Given the description of an element on the screen output the (x, y) to click on. 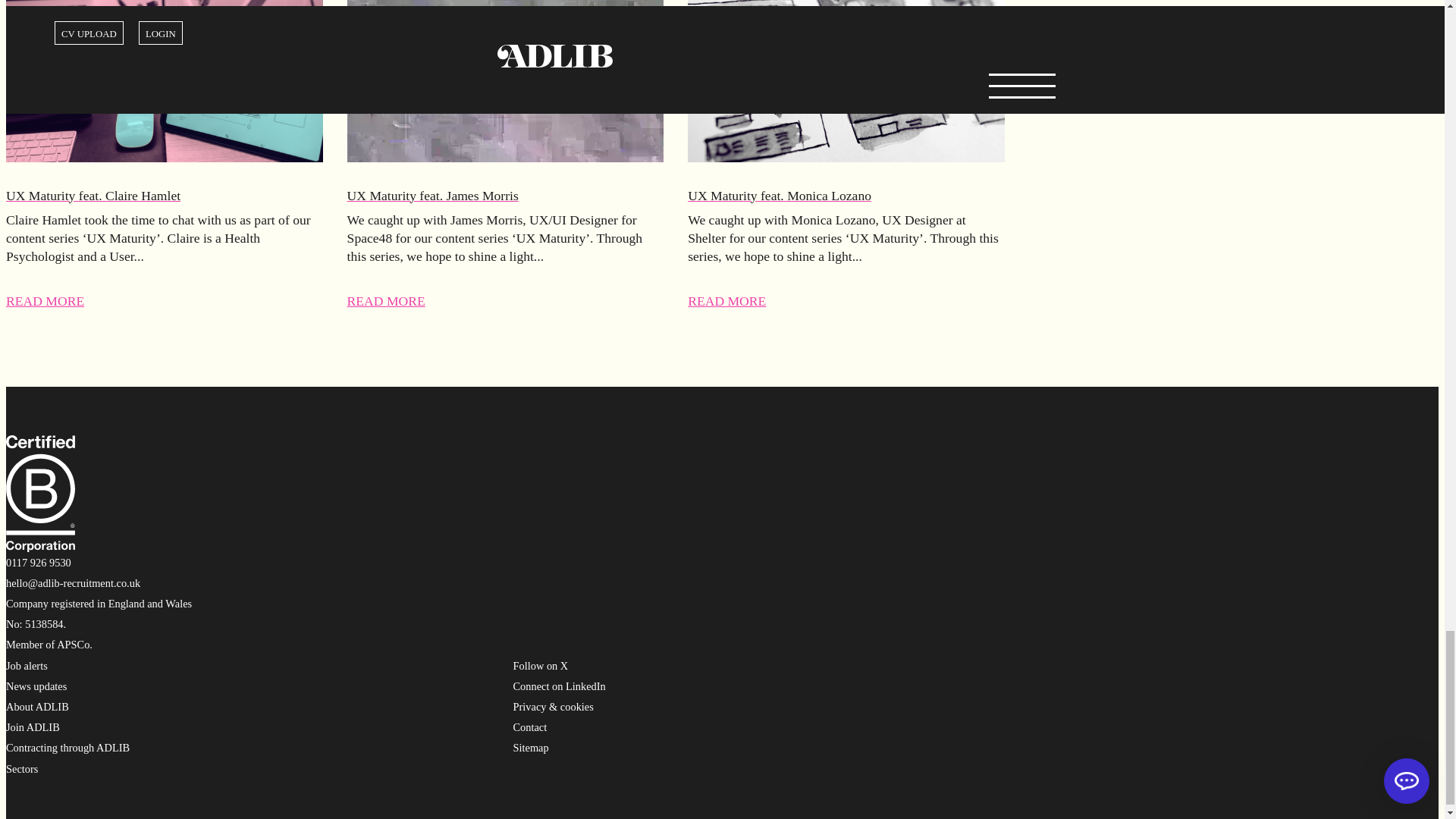
UX Maturity feat. James Morris (505, 195)
Contracting through ADLIB (67, 747)
0117 926 9530 (38, 562)
Job alerts (26, 665)
News updates (35, 686)
READ MORE (44, 299)
READ MORE (386, 299)
UX Maturity feat. Monica Lozano (845, 195)
About ADLIB (36, 706)
Join ADLIB (32, 727)
UX Maturity feat. Claire Hamlet (164, 195)
READ MORE (726, 299)
